Given the description of an element on the screen output the (x, y) to click on. 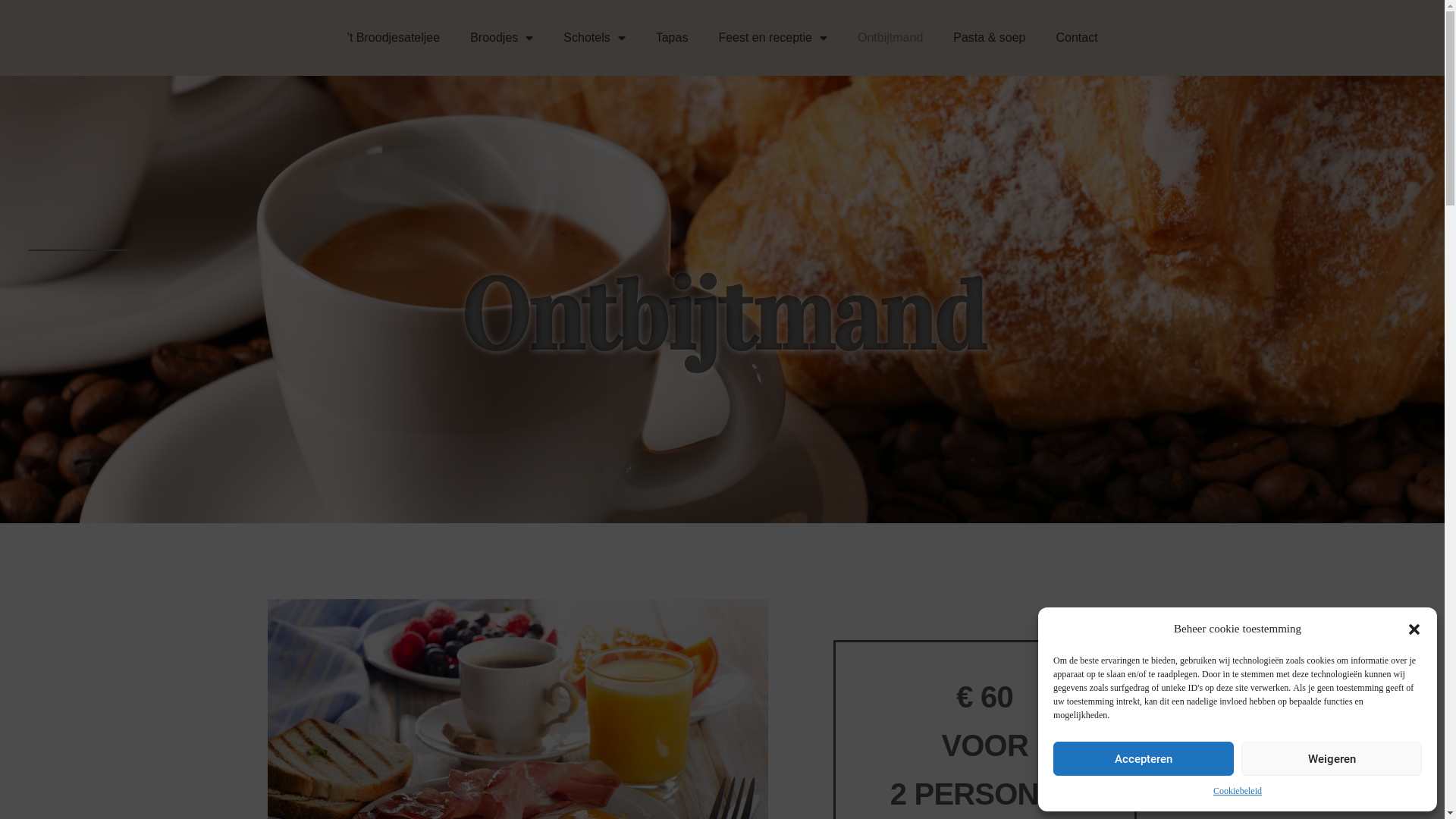
Weigeren Element type: text (1331, 758)
Cookiebeleid Element type: text (1237, 791)
Broodjes Element type: text (501, 37)
Contact Element type: text (1076, 37)
Feest en receptie Element type: text (772, 37)
Ontbijtmand Element type: text (890, 37)
Schotels Element type: text (594, 37)
Tapas Element type: text (671, 37)
Pasta & soep Element type: text (989, 37)
Accepteren Element type: text (1143, 758)
